Given the description of an element on the screen output the (x, y) to click on. 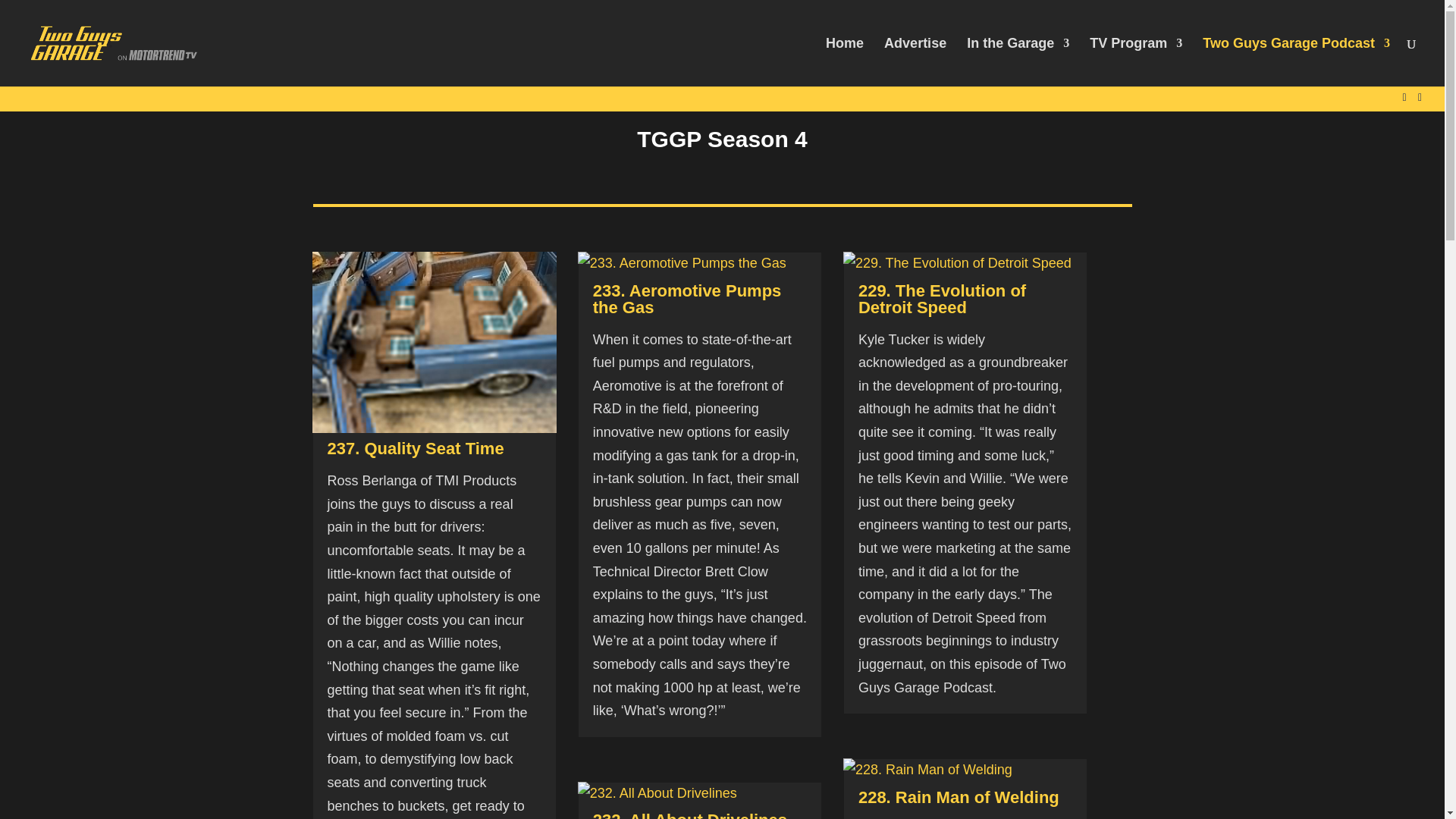
Two Guys Garage Podcast (1296, 61)
Advertise (914, 61)
237. Quality Seat Time (415, 447)
In the Garage (1017, 61)
TV Program (1135, 61)
